Given the description of an element on the screen output the (x, y) to click on. 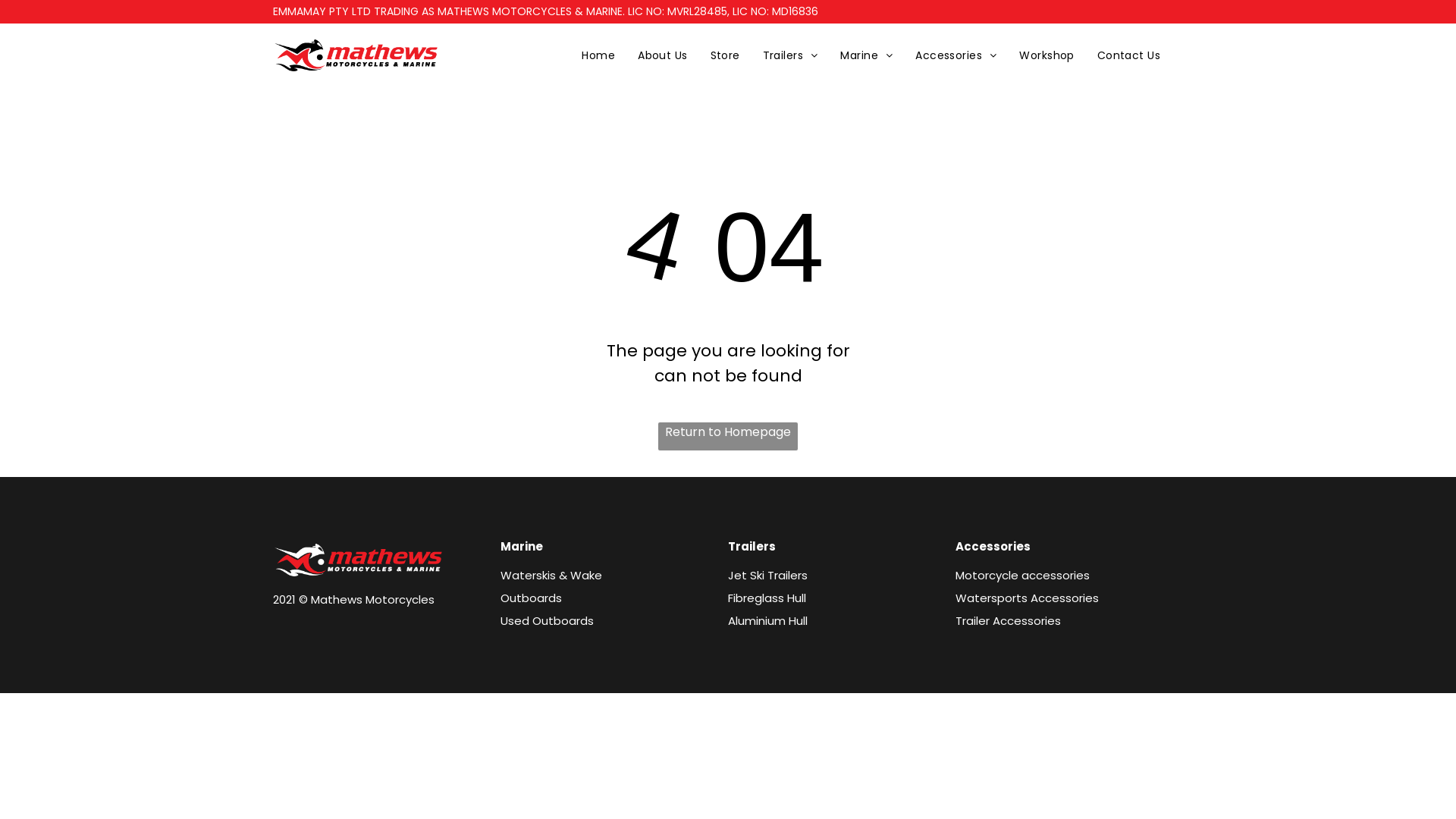
Outboards Element type: text (530, 597)
About Us Element type: text (662, 55)
Fibreglass Hull Element type: text (767, 597)
Watersports Accessories Element type: text (1026, 597)
Home Element type: text (598, 55)
Mathews Motorcycles Element type: hover (356, 54)
Marine Element type: text (865, 55)
Aluminium Hull Element type: text (767, 620)
Waterskis & Wake Element type: text (551, 575)
Return to Homepage Element type: text (727, 436)
Workshop Element type: text (1046, 55)
Jet Ski Trailers Element type: text (767, 575)
Motorcycle accessories Element type: text (1022, 575)
Trailers Element type: text (790, 55)
Contact Us Element type: text (1128, 55)
Accessories Element type: text (955, 55)
Store Element type: text (725, 55)
Trailer Accessories Element type: text (1007, 620)
Used Outboards Element type: text (546, 620)
